Given the description of an element on the screen output the (x, y) to click on. 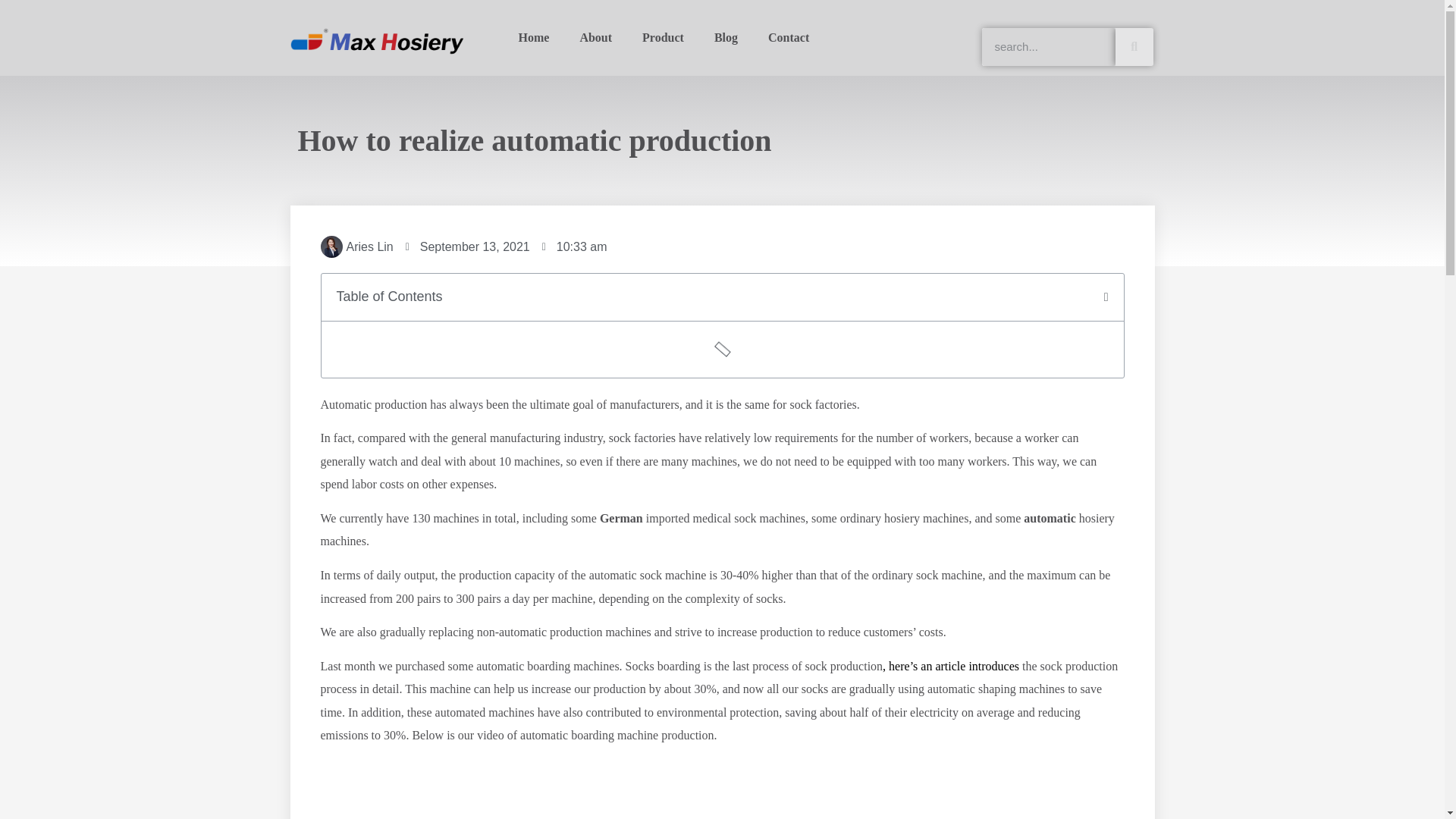
Automatic boarding machine max hosiery for compression socks (722, 788)
Product (662, 38)
Contact (788, 38)
